Given the description of an element on the screen output the (x, y) to click on. 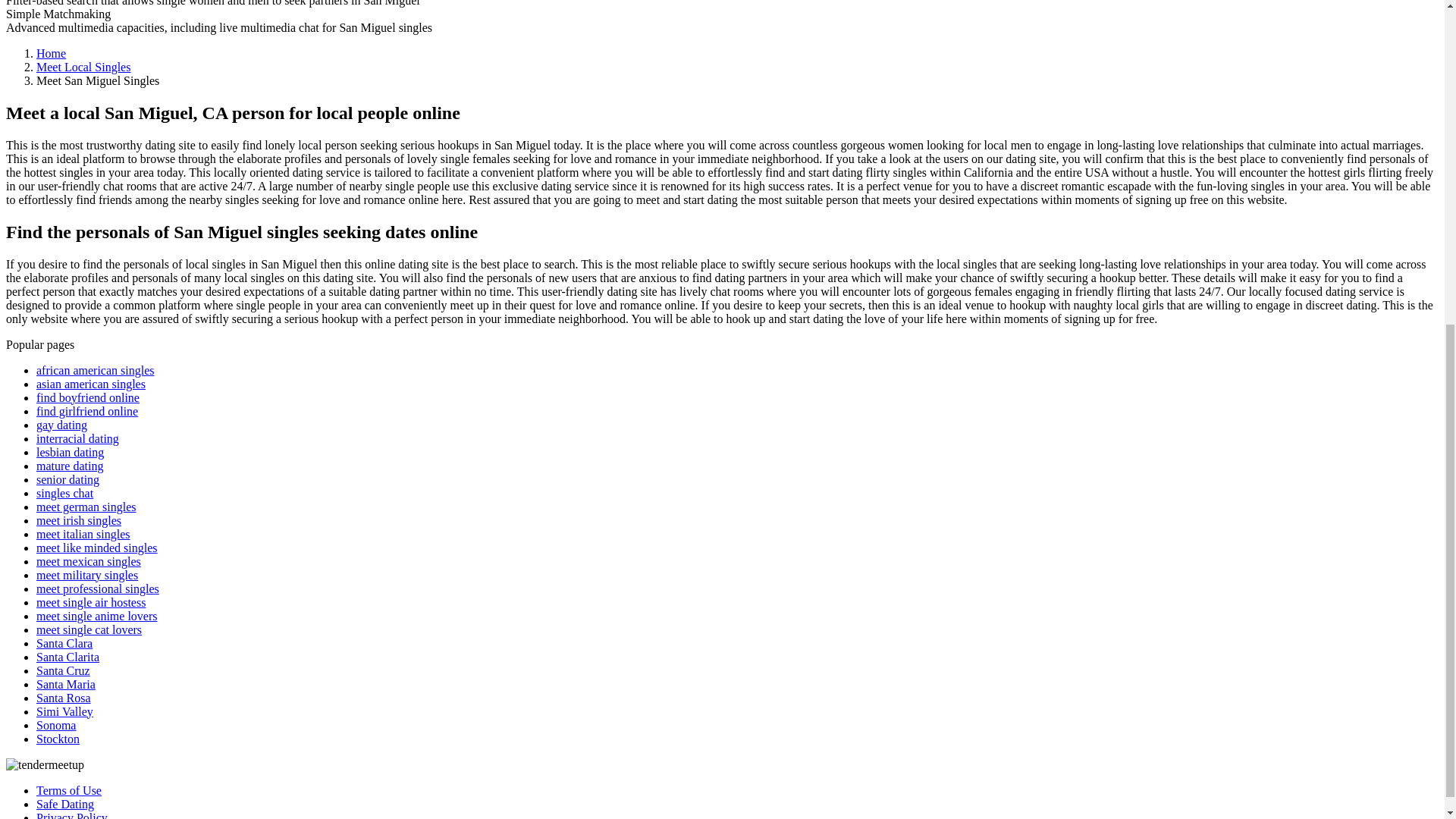
singles chat (64, 492)
Dating in Santa Cruz (63, 669)
Home (50, 52)
Dating in Santa Maria (66, 683)
meet italian singles (83, 533)
Dating in Santa Rosa (63, 697)
Dating in Santa Clarita (67, 656)
Santa Rosa (63, 697)
meet like minded singles (96, 546)
asian american singles (90, 382)
meet mexican singles (88, 560)
Sonoma (55, 724)
Dating in Simi Valley (64, 710)
find boyfriend online (87, 396)
Stockton (58, 738)
